Given the description of an element on the screen output the (x, y) to click on. 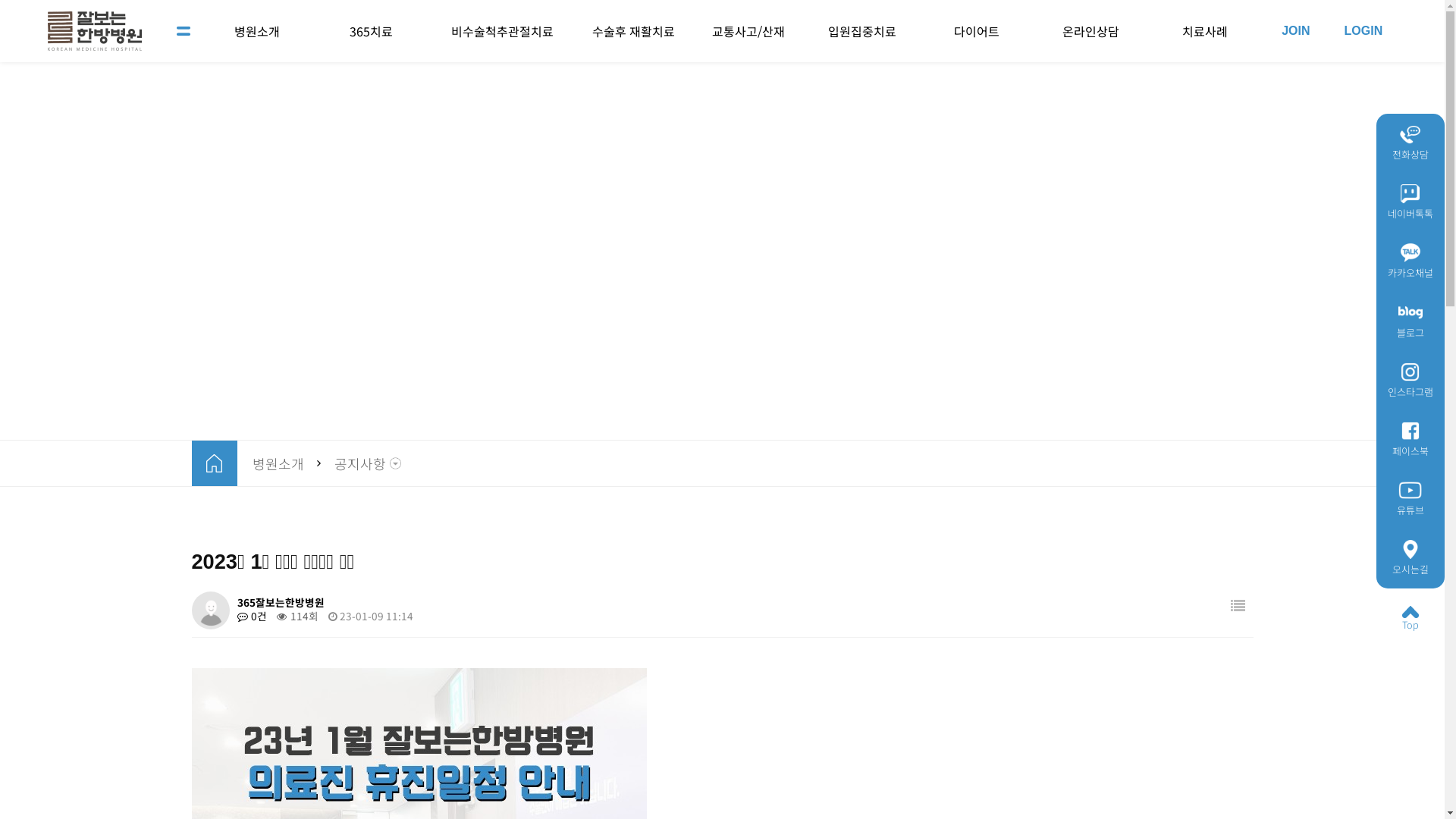
Top Element type: text (1410, 618)
JOIN Element type: text (1295, 30)
LOGIN Element type: text (1363, 30)
